Given the description of an element on the screen output the (x, y) to click on. 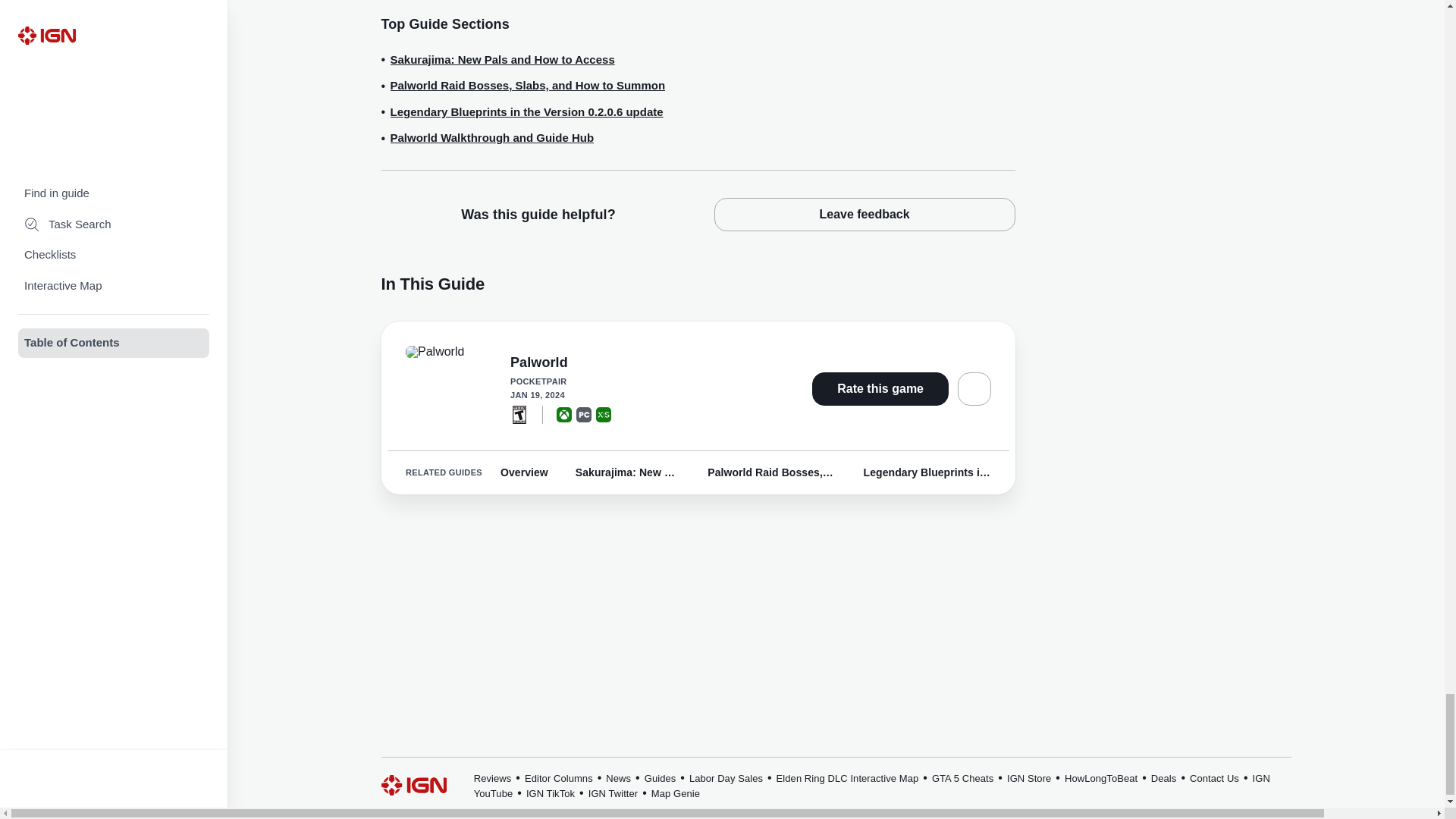
PC (583, 414)
ESRB: Teen (518, 414)
Xbox One (564, 414)
